Given the description of an element on the screen output the (x, y) to click on. 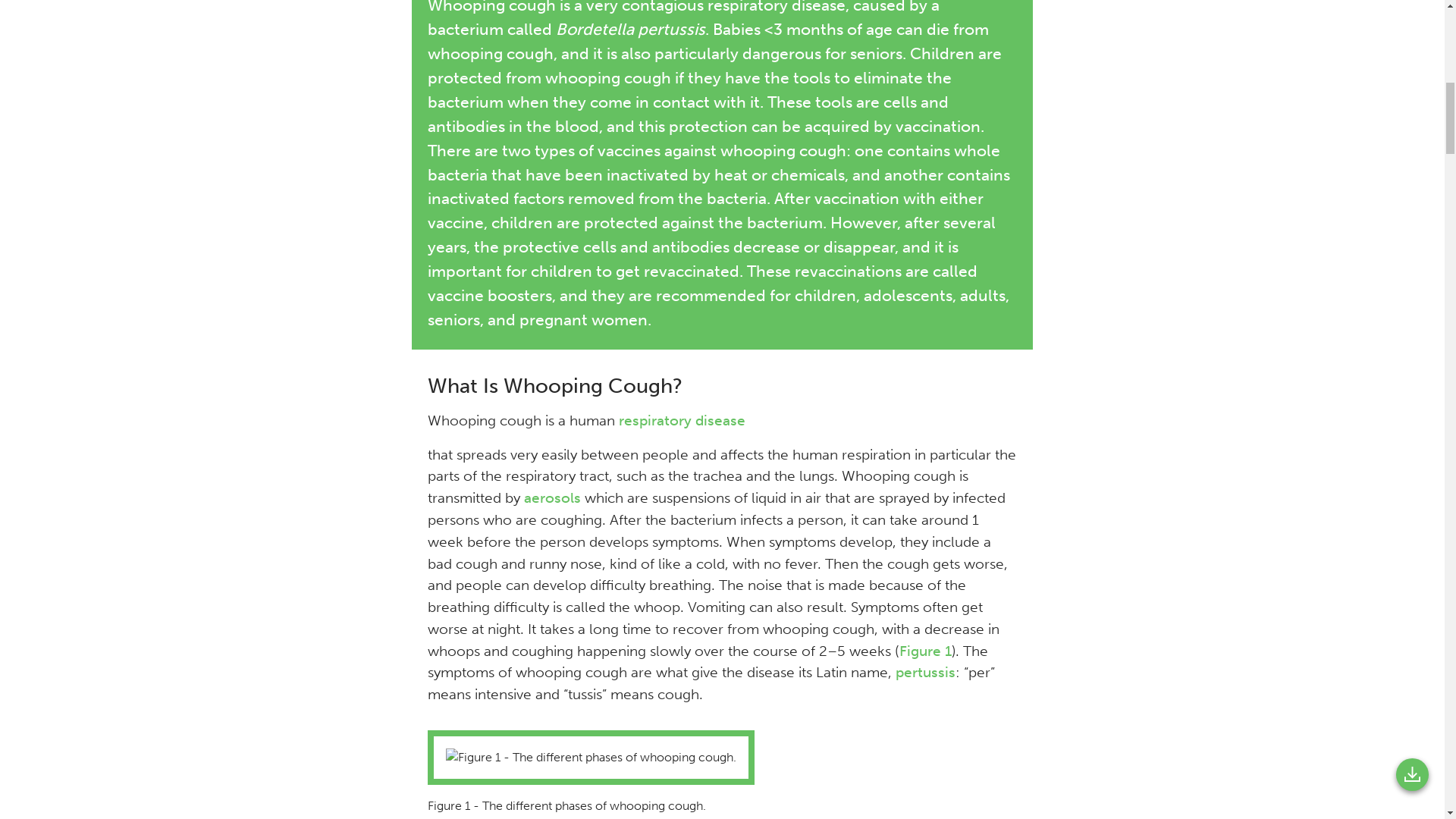
aerosols (552, 497)
pertussis (925, 671)
respiratory disease (681, 420)
Figure 1 (925, 651)
